Given the description of an element on the screen output the (x, y) to click on. 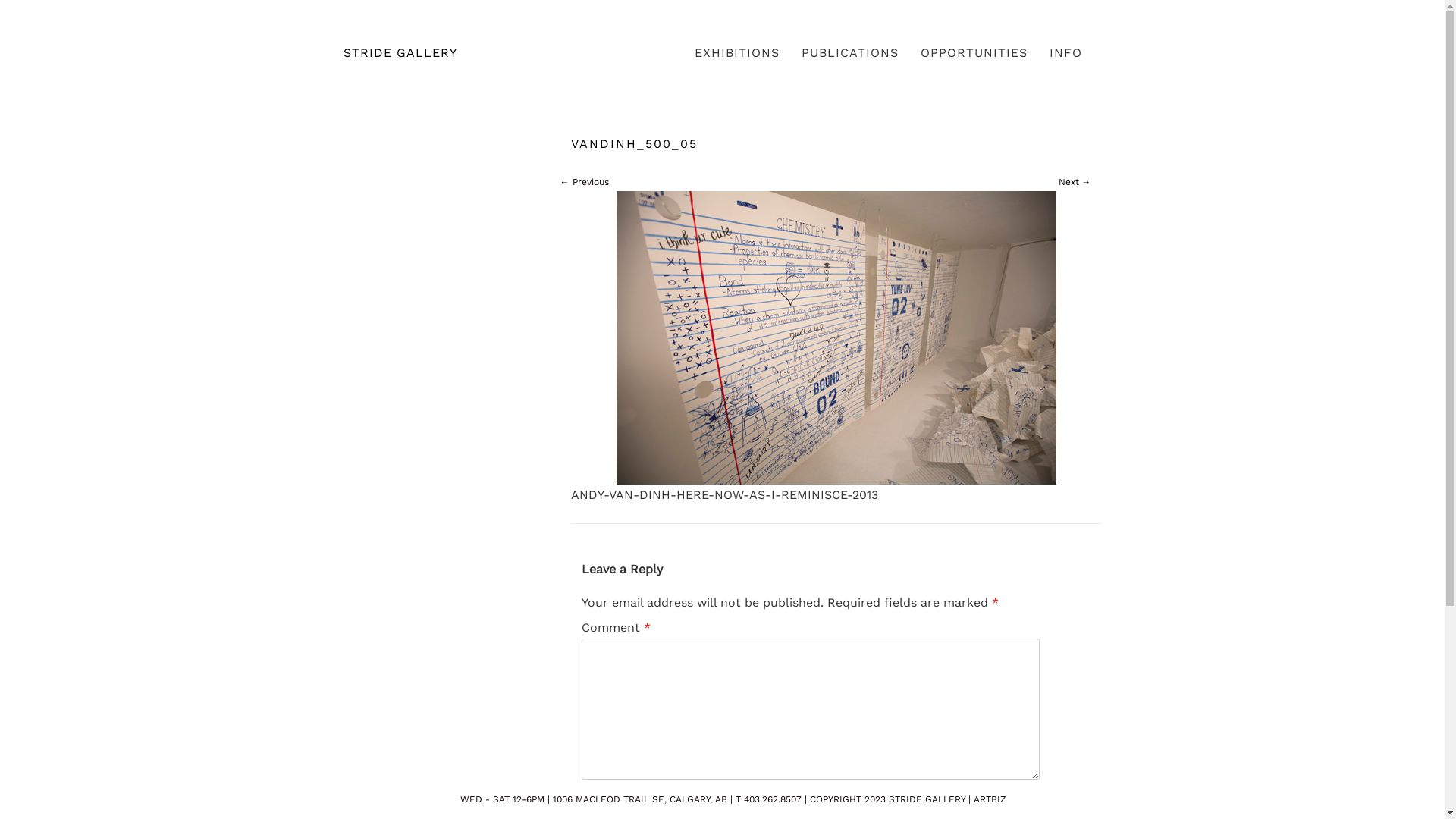
PUBLICATIONS Element type: text (849, 52)
OPPORTUNITIES Element type: text (973, 52)
vandinh_500_05 Element type: hover (835, 332)
STRIDE GALLERY Element type: text (926, 798)
INFO Element type: text (1065, 52)
Skip to content Element type: text (528, 46)
STRIDE GALLERY Element type: text (357, 52)
ARTBIZ Element type: text (989, 798)
EXHIBITIONS Element type: text (736, 52)
